Given the description of an element on the screen output the (x, y) to click on. 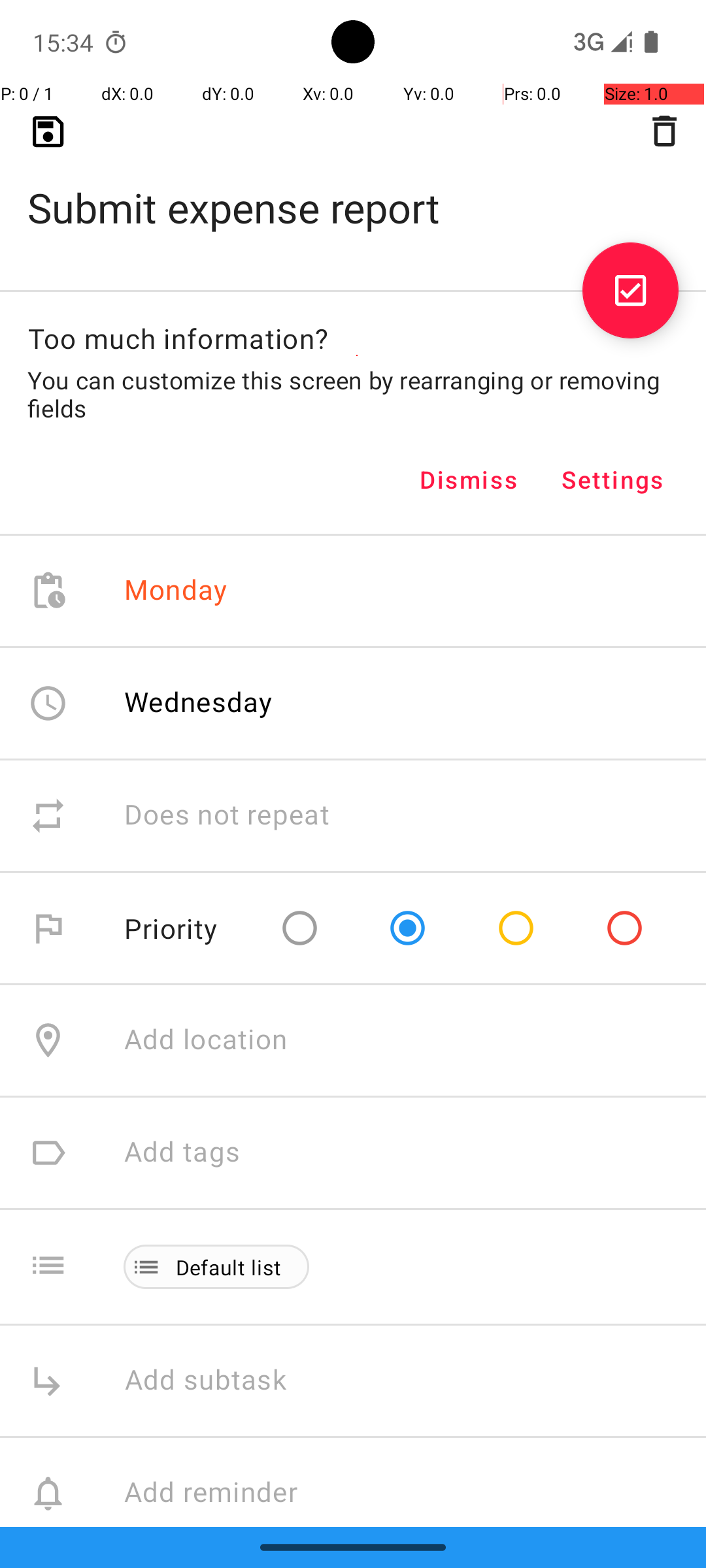
Submit expense report Element type: android.widget.EditText (353, 186)
